Given the description of an element on the screen output the (x, y) to click on. 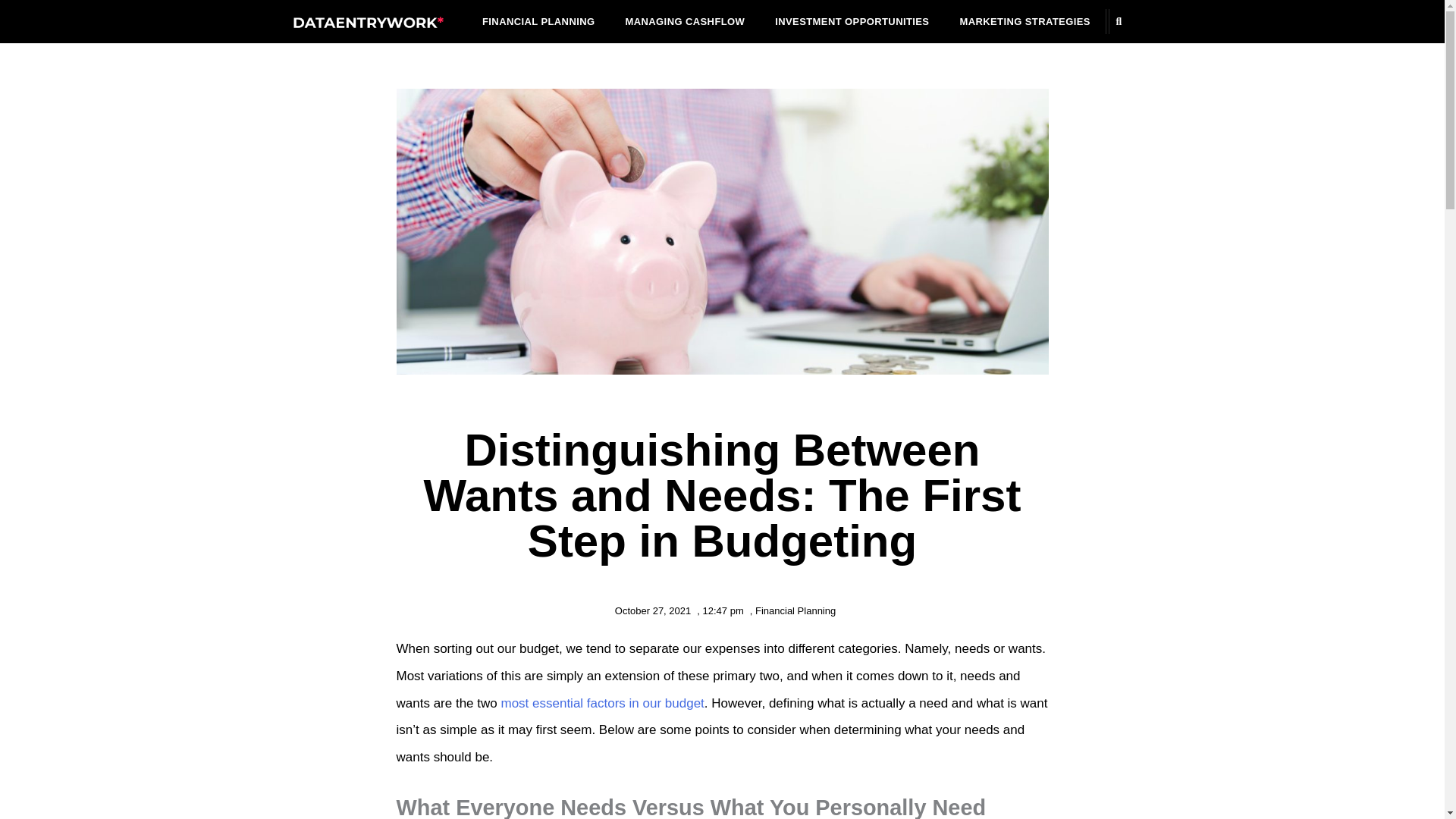
MANAGING CASHFLOW (685, 20)
October 27, 2021 (649, 610)
INVESTMENT OPPORTUNITIES (851, 20)
Financial Planning (795, 610)
most essential factors in our budget (601, 703)
MARKETING STRATEGIES (1024, 20)
FINANCIAL PLANNING (538, 20)
